Given the description of an element on the screen output the (x, y) to click on. 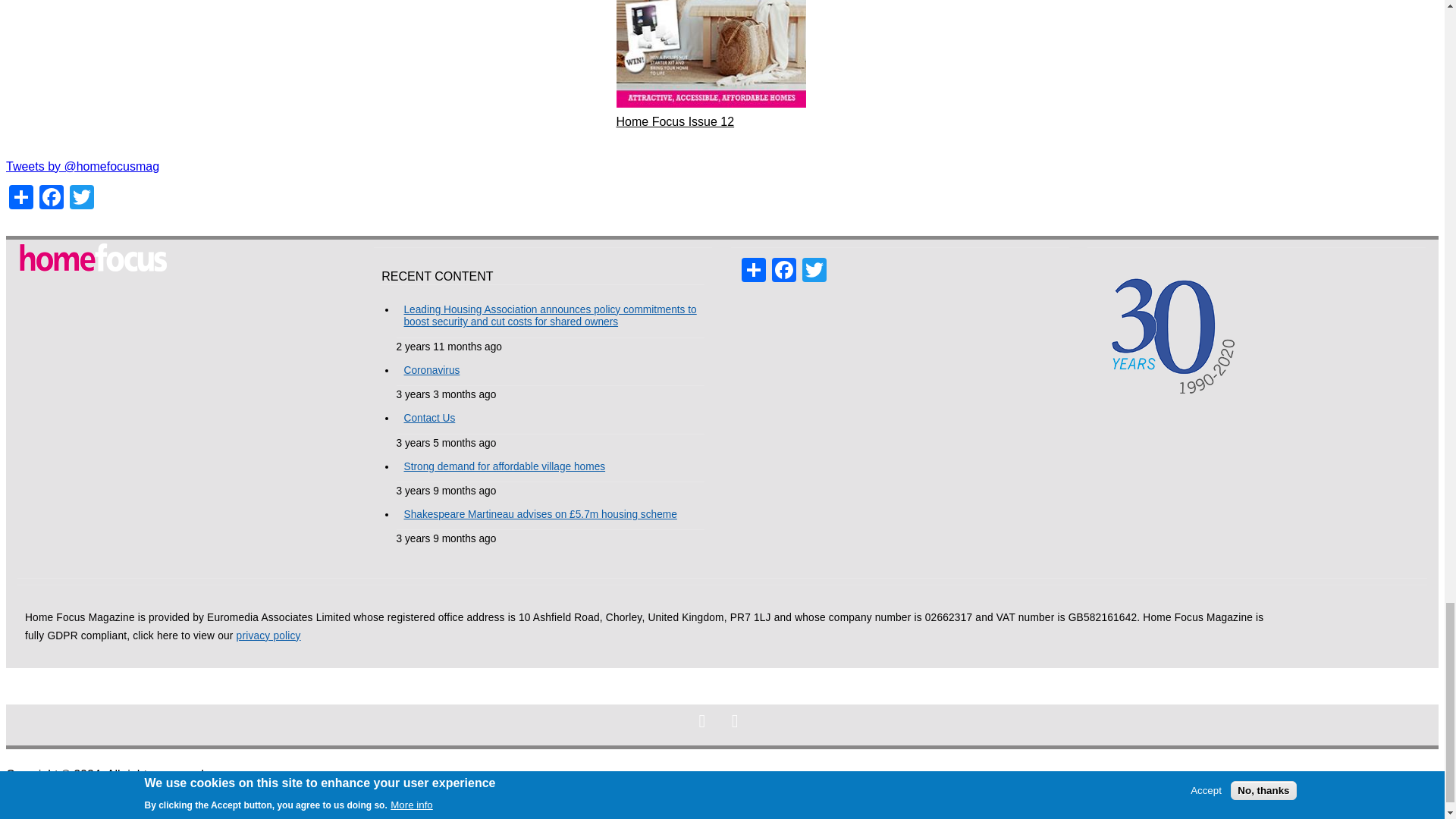
Home (92, 261)
Home Focus Issue 12 (674, 121)
